Given the description of an element on the screen output the (x, y) to click on. 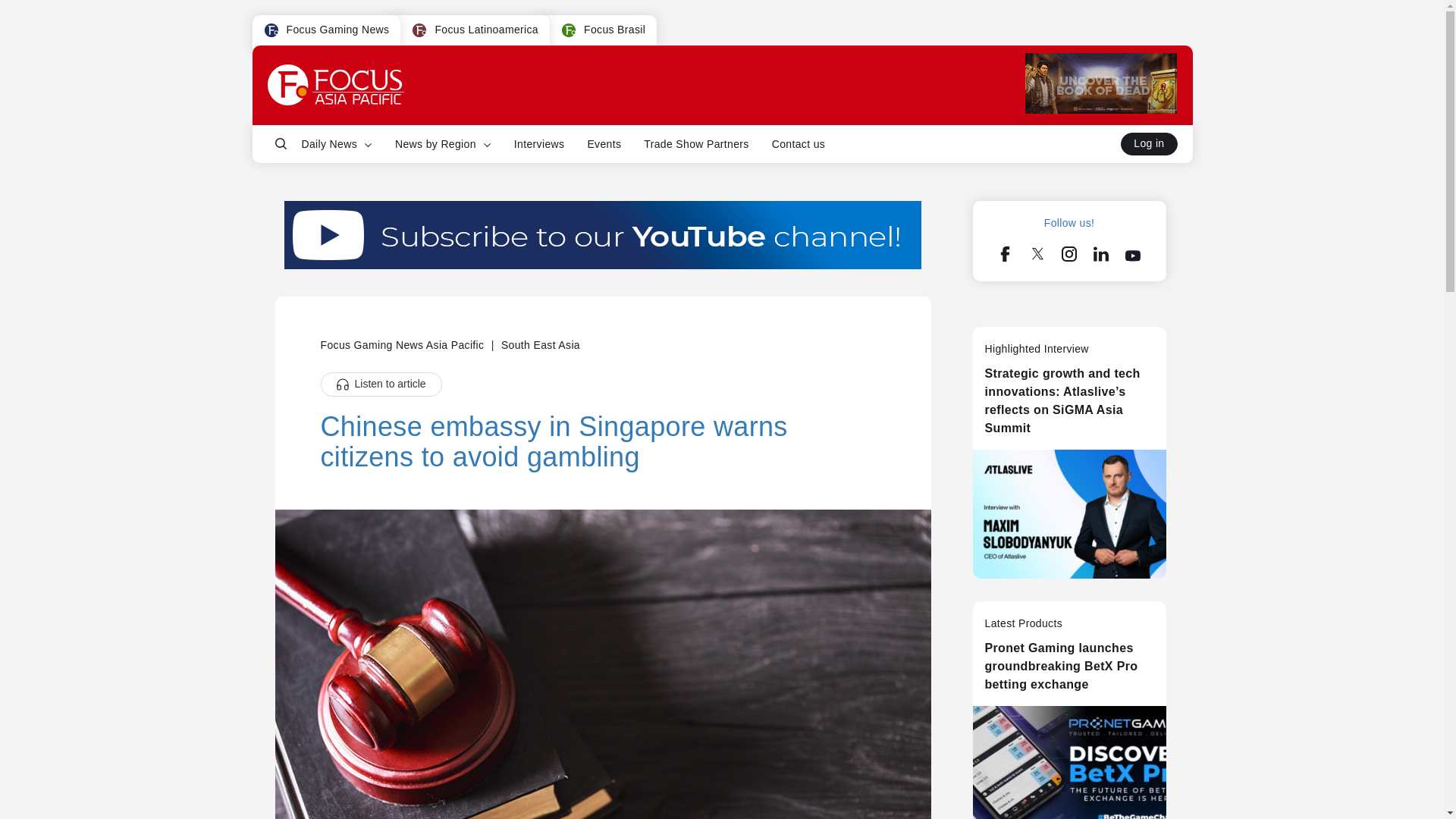
Trade Show Partners (695, 143)
Focus Gaming News Asia Pacific (403, 345)
Focus Gaming News (271, 29)
Focus Brasil (568, 29)
Listen to article (380, 384)
Events (603, 143)
Focus Latinoamerica (469, 34)
Focus Latinoamerica (419, 29)
Contact us (797, 143)
News by Region (443, 143)
